Given the description of an element on the screen output the (x, y) to click on. 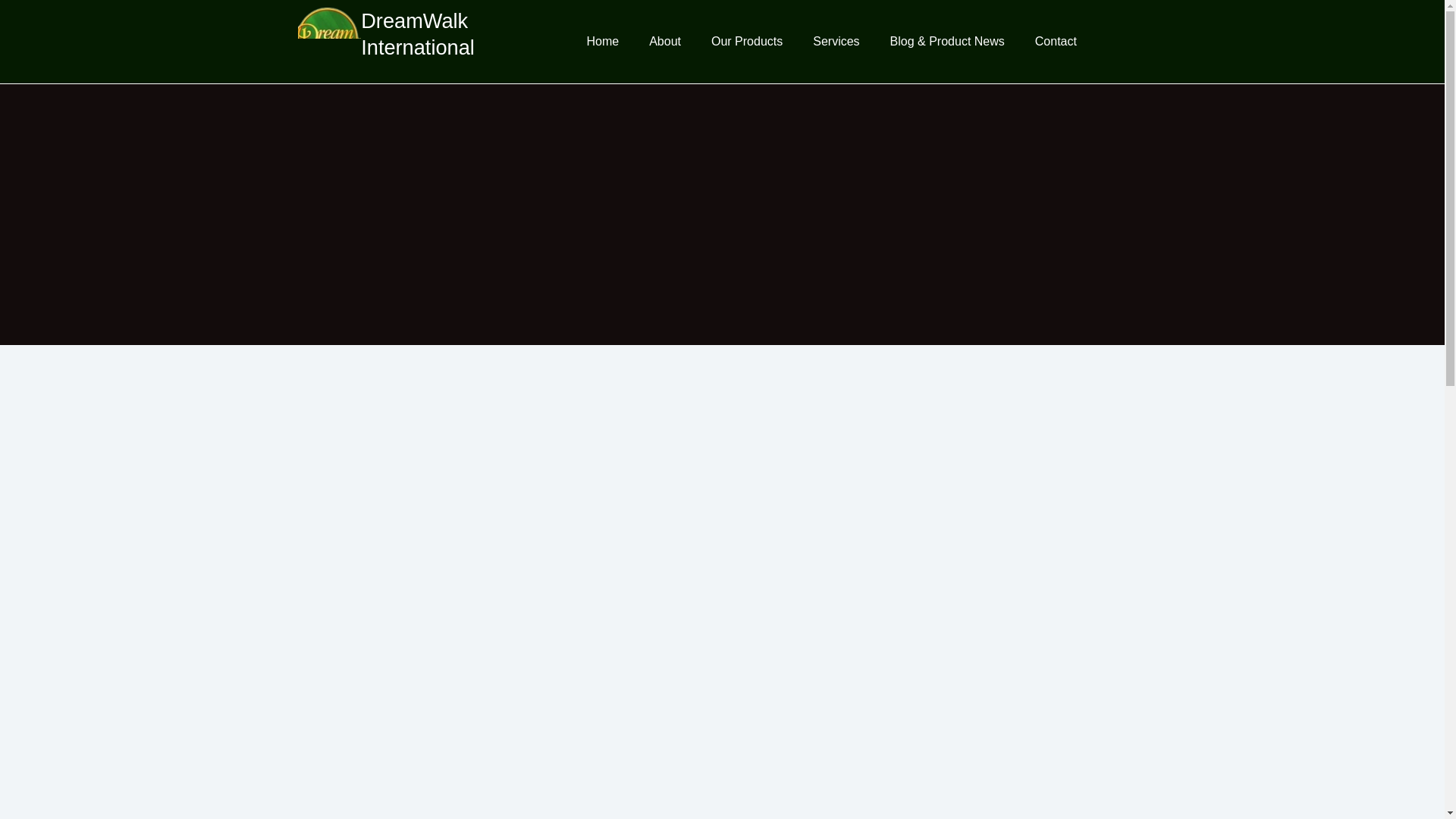
About (664, 41)
DreamWalk International (417, 33)
Contact (1056, 41)
Home (601, 41)
Our Products (746, 41)
Services (836, 41)
